Given the description of an element on the screen output the (x, y) to click on. 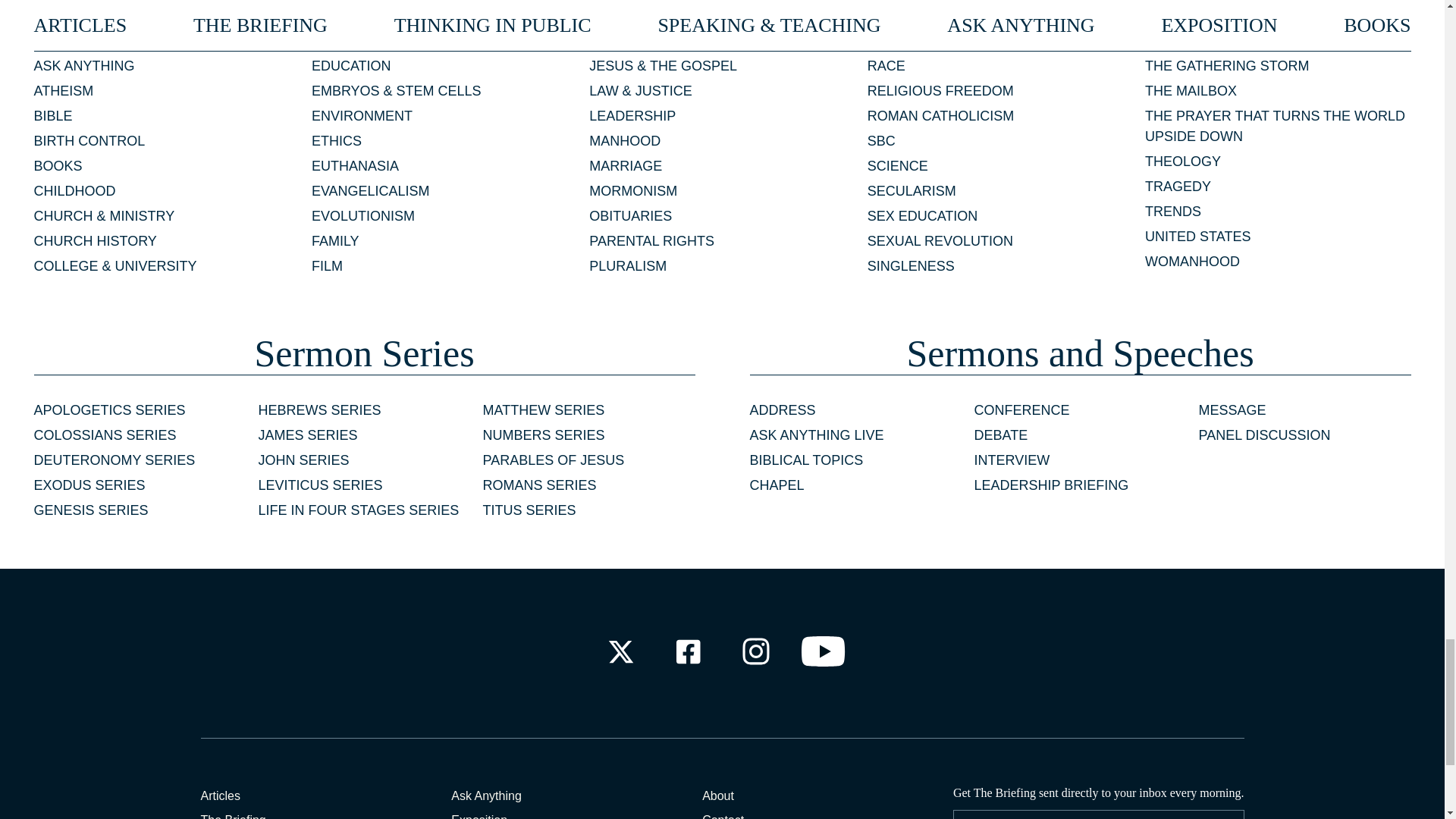
Check out our X Profile (620, 651)
Check out our Facebook Profile (687, 651)
Check out our Youtube Channel (822, 651)
Check out our Instagram Profile (755, 651)
